Given the description of an element on the screen output the (x, y) to click on. 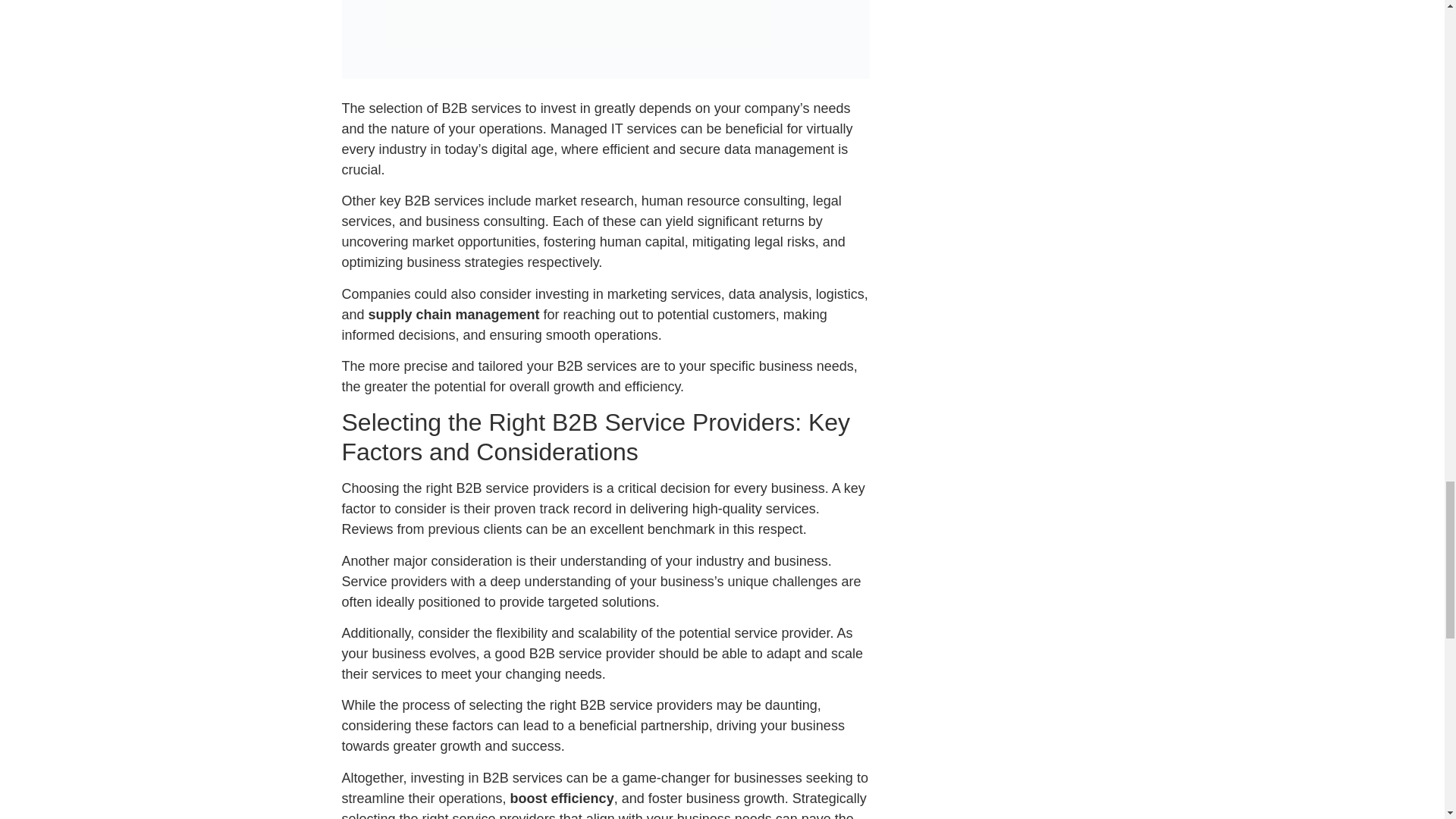
boost efficiency (562, 798)
supply chain management (454, 314)
